Given the description of an element on the screen output the (x, y) to click on. 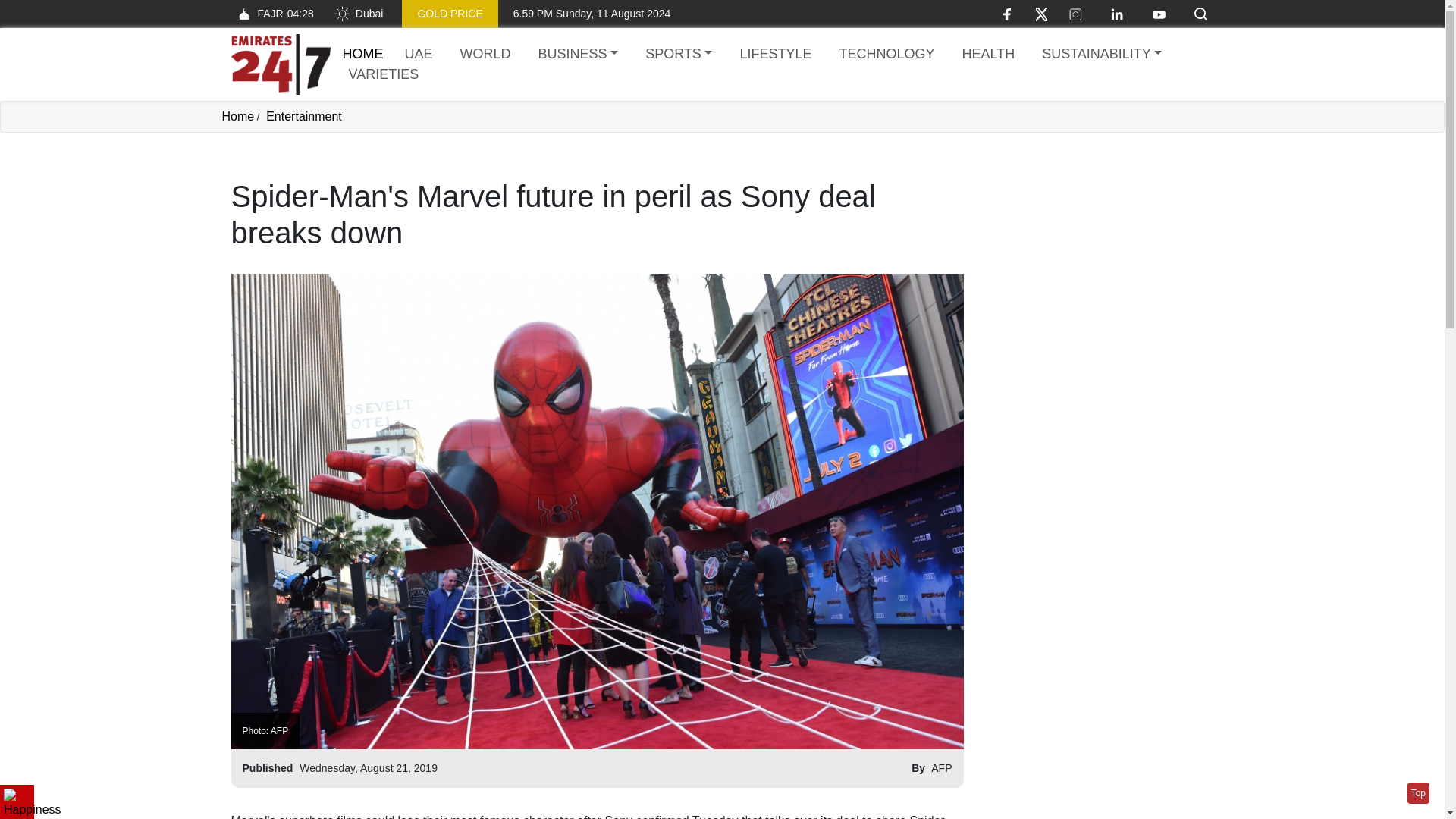
HOME (363, 53)
VARIETIES (383, 74)
Entertainment (304, 115)
HEALTH (987, 54)
Home (280, 64)
SUSTAINABILITY (1101, 54)
GOLD PRICE (271, 13)
Go to top (449, 13)
WORLD (1418, 792)
